Given the description of an element on the screen output the (x, y) to click on. 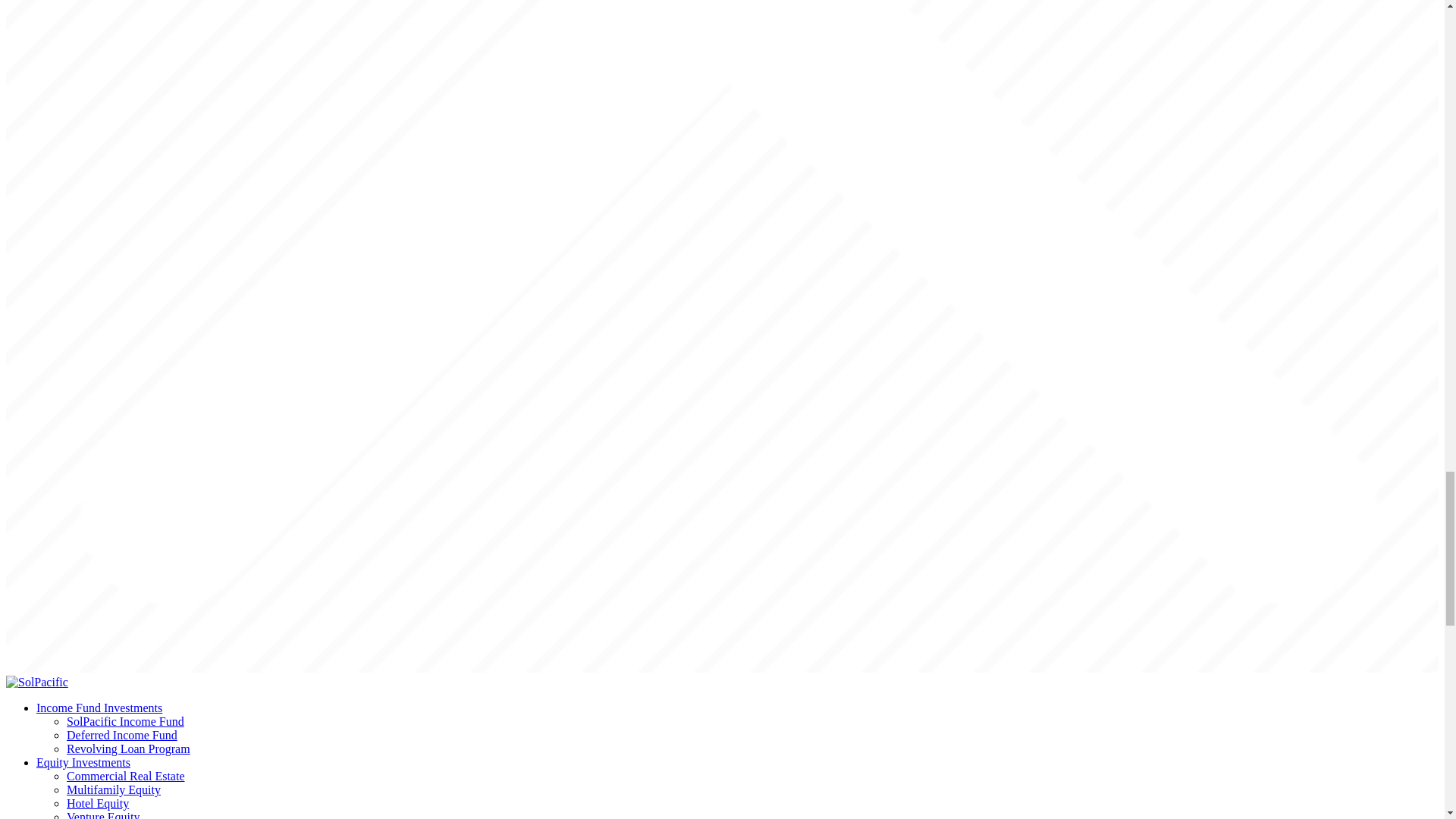
Equity Investments (83, 762)
Revolving Loan Program (128, 748)
Venture Equity (102, 814)
Deferred Income Fund (121, 735)
Commercial Real Estate (125, 775)
Hotel Equity (97, 802)
SolPacific Income Fund (125, 721)
Multifamily Equity (113, 789)
Income Fund Investments (98, 707)
